Given the description of an element on the screen output the (x, y) to click on. 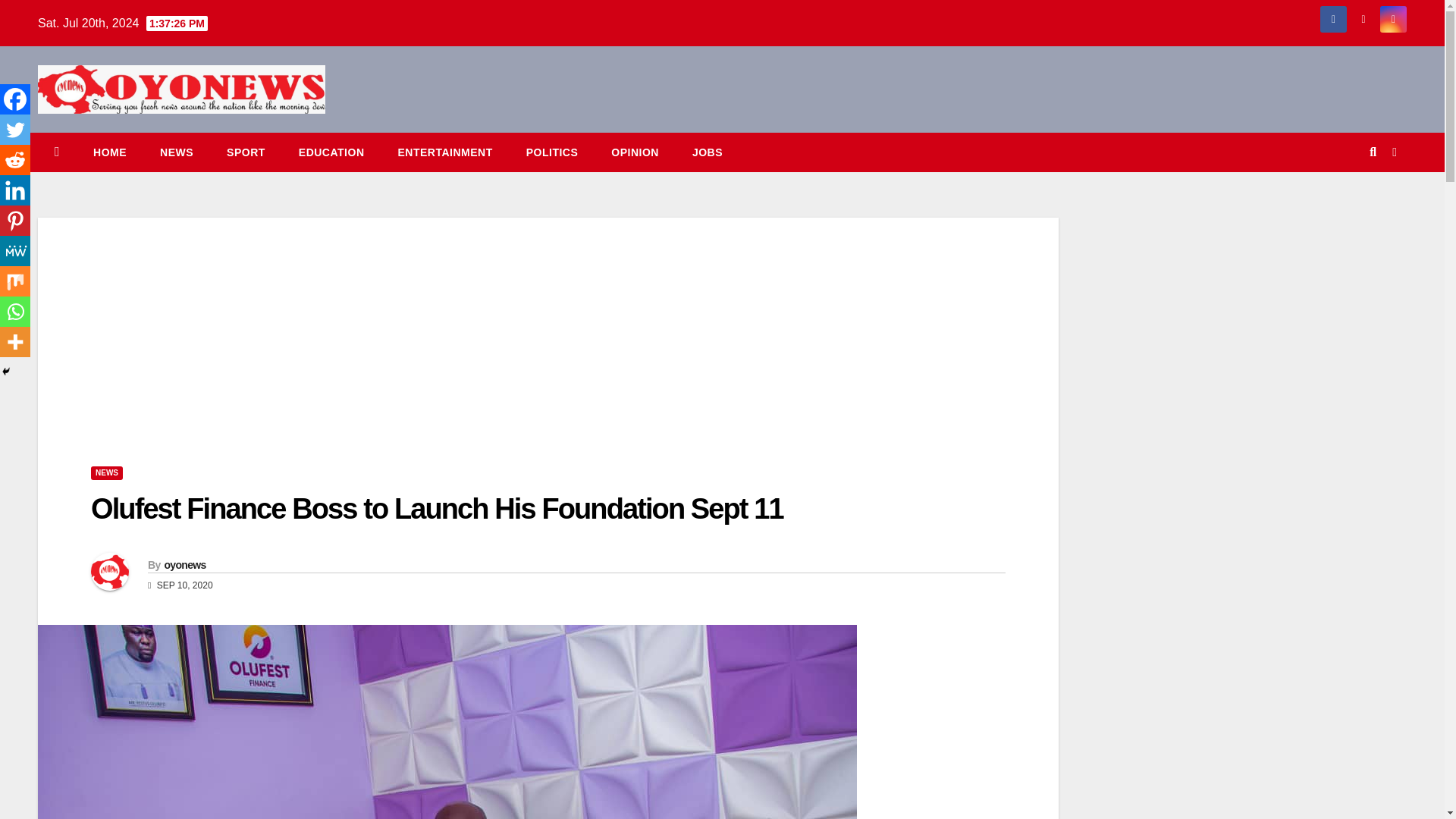
Olufest Finance Boss to Launch His Foundation Sept 11 (436, 508)
opinion (634, 151)
entertainment (444, 151)
oyonews (184, 564)
news (175, 151)
NEWS (175, 151)
Home (109, 151)
sport (245, 151)
jobs (707, 151)
ENTERTAINMENT (444, 151)
POLITICS (552, 151)
EDUCATION (331, 151)
politics (552, 151)
OPINION (634, 151)
